Given the description of an element on the screen output the (x, y) to click on. 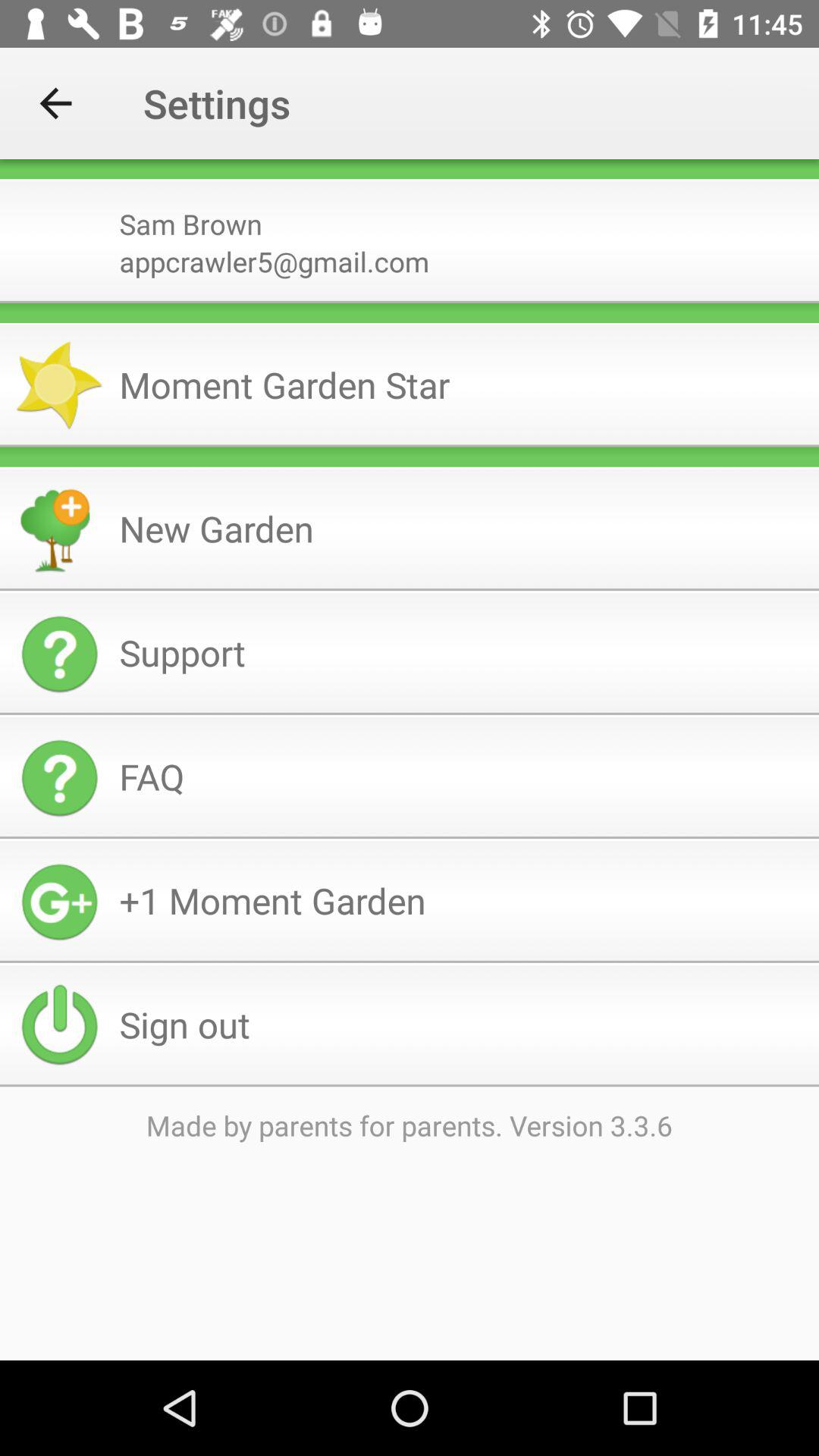
open the support item (463, 652)
